Given the description of an element on the screen output the (x, y) to click on. 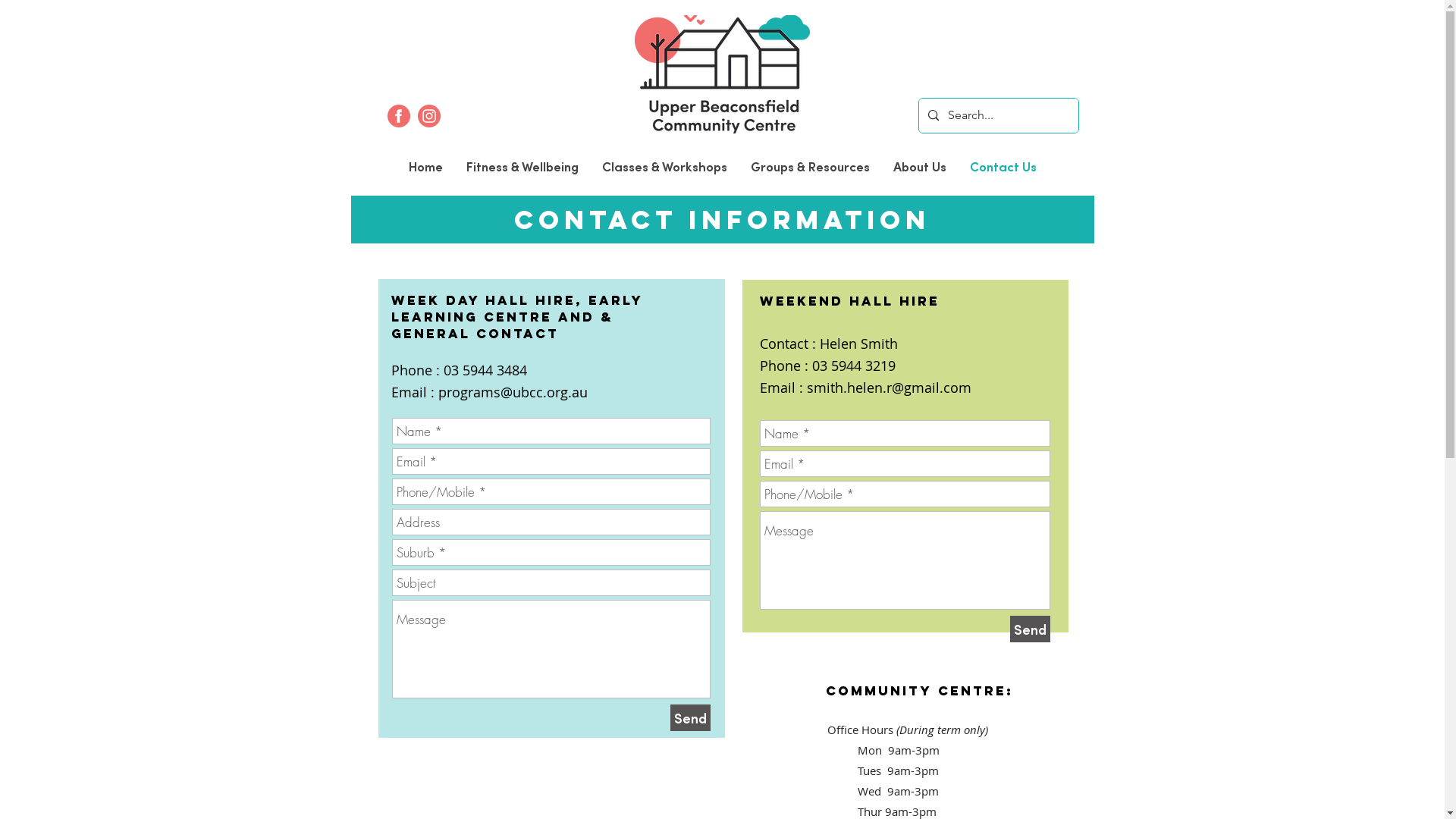
Contact Us Element type: text (1002, 166)
@ubcc.org.au Element type: text (543, 391)
CONTACT INFORMATION Element type: text (722, 219)
Fitness & Wellbeing Element type: text (521, 166)
Send Element type: text (690, 717)
Home Element type: text (425, 166)
smith.helen.r@gmail.com Element type: text (888, 387)
Send Element type: text (1030, 628)
03 5944 3484 Element type: text (484, 369)
03 5944 3219 Element type: text (852, 365)
